Given the description of an element on the screen output the (x, y) to click on. 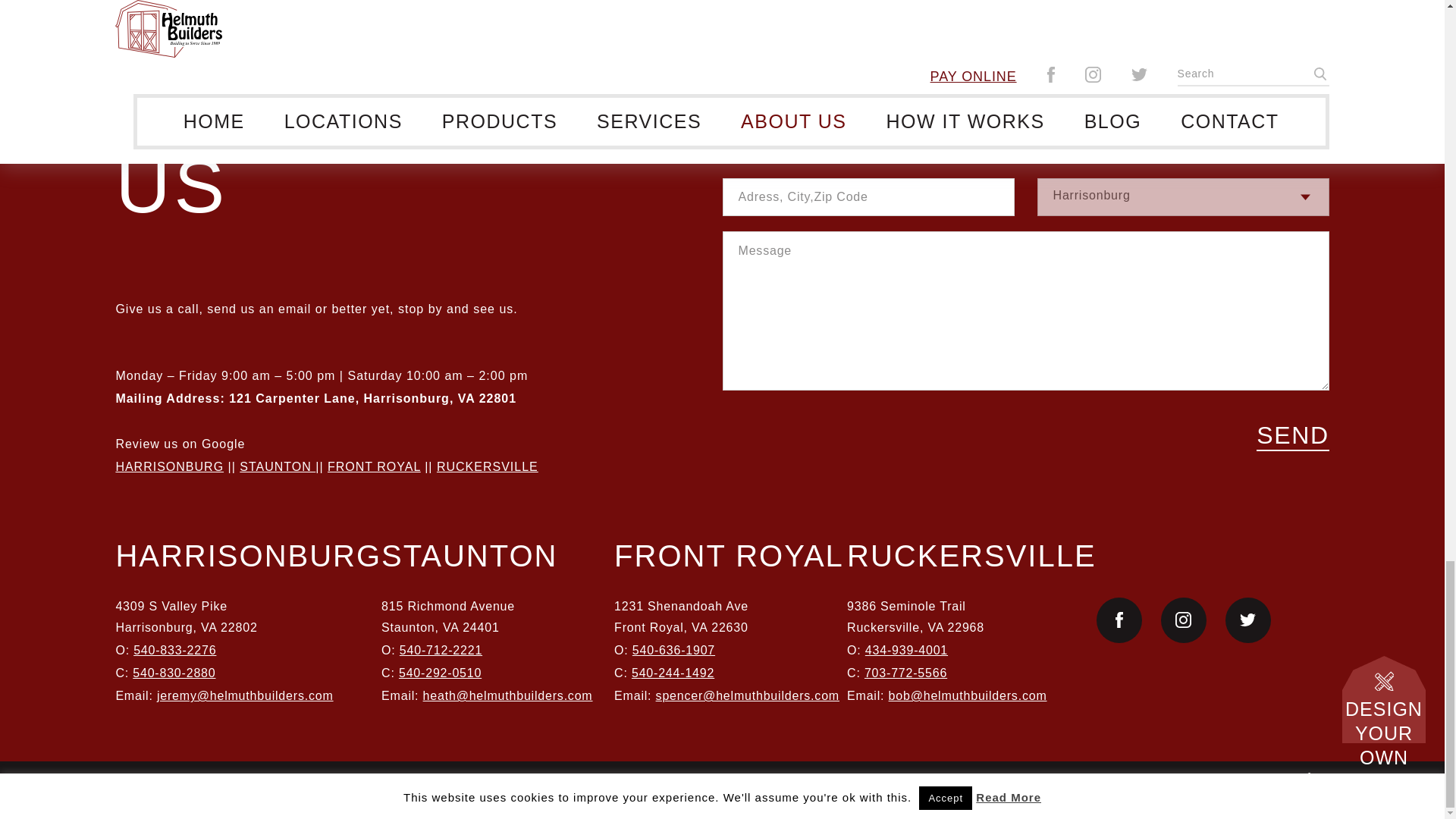
SEND (1291, 435)
